Given the description of an element on the screen output the (x, y) to click on. 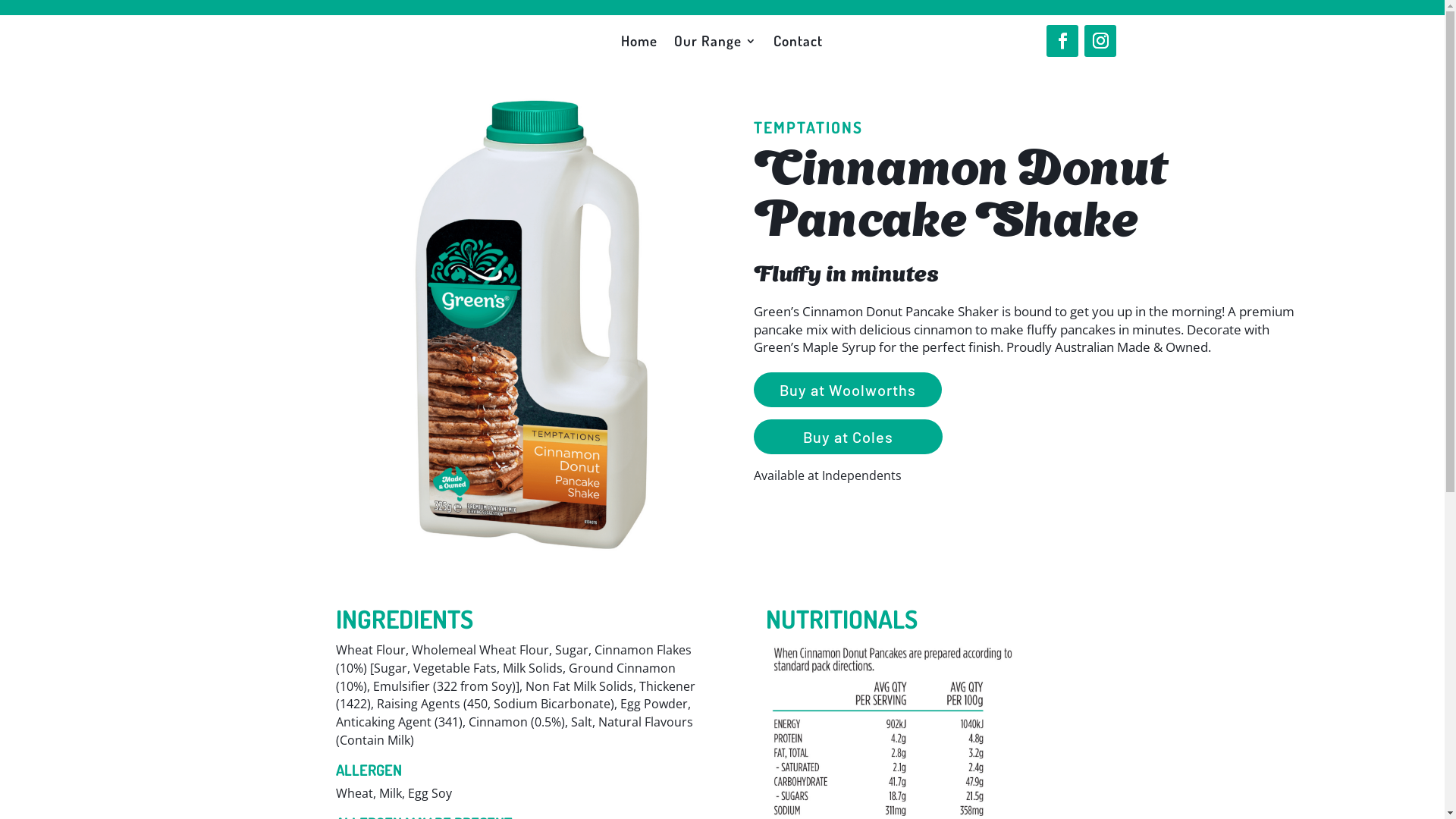
Our Range Element type: text (715, 43)
Follow on Facebook Element type: hover (1062, 40)
Buy at Coles Element type: text (847, 436)
Buy at Woolworths Element type: text (847, 389)
Cinnamon-Pancake-Shake-Image-682x1024 Element type: hover (531, 325)
Home Element type: text (639, 43)
Follow on Instagram Element type: hover (1100, 40)
Contact Element type: text (797, 43)
